Given the description of an element on the screen output the (x, y) to click on. 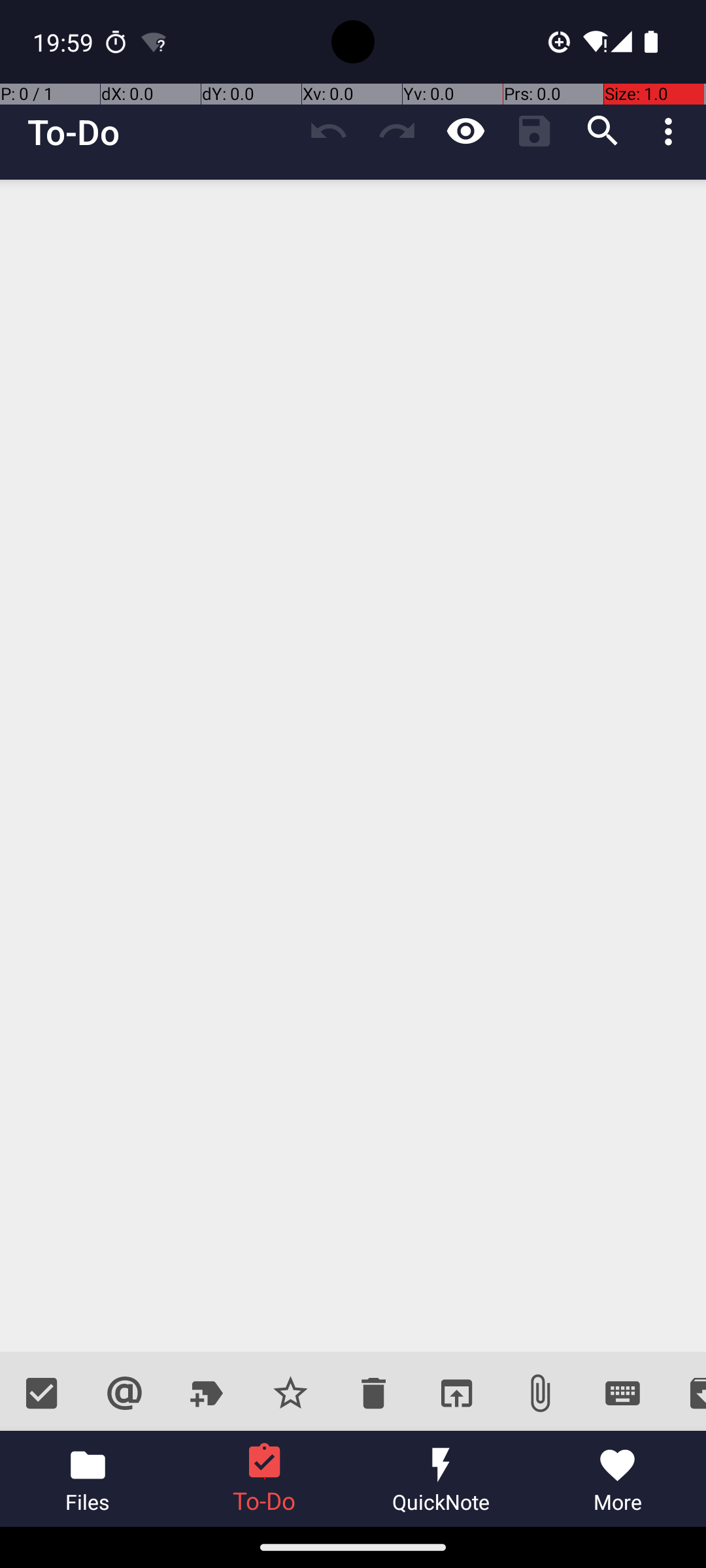
19:59 Element type: android.widget.TextView (64, 41)
